Given the description of an element on the screen output the (x, y) to click on. 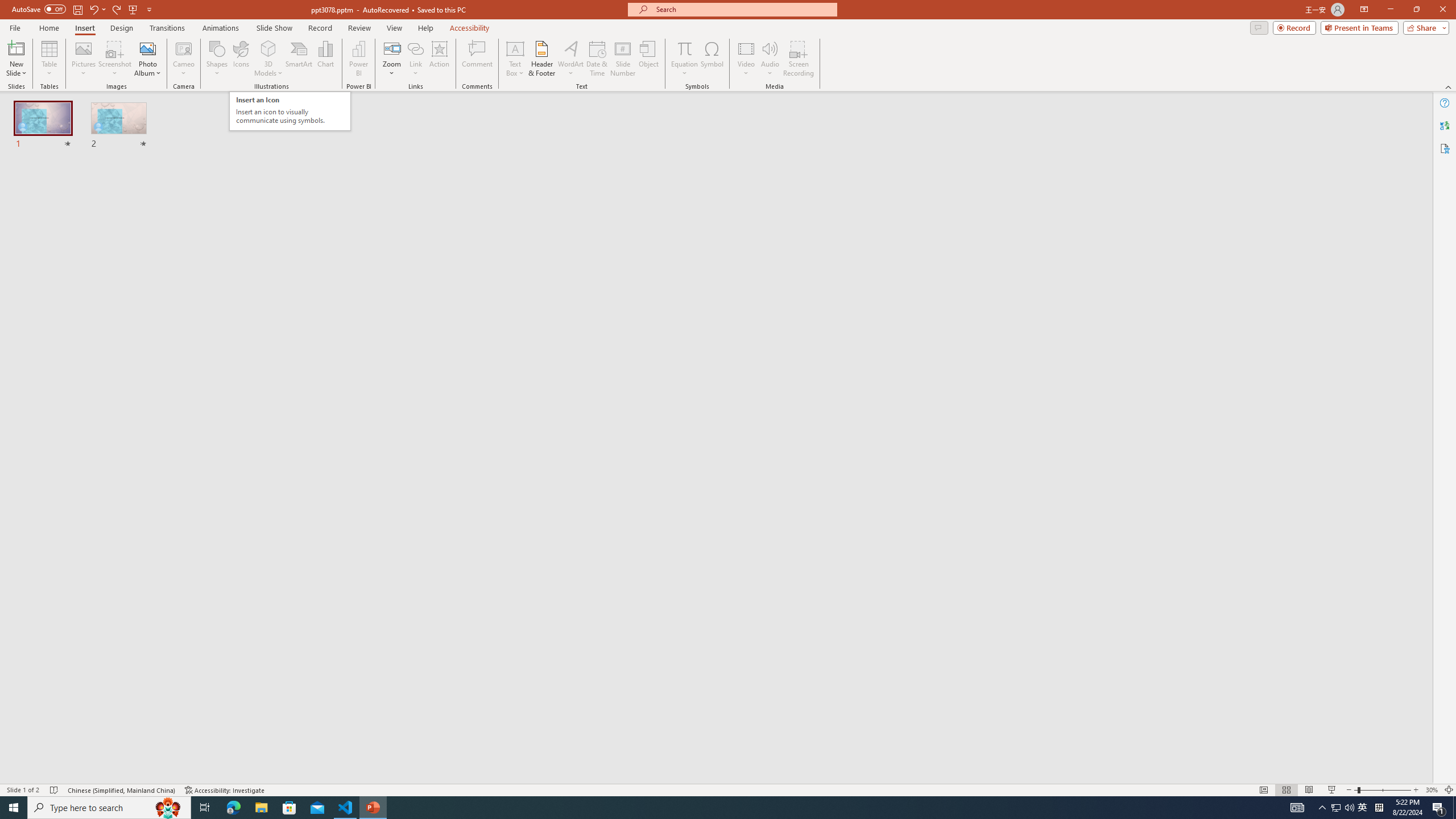
Draw Horizontal Text Box (515, 48)
Pictures (83, 58)
Equation (683, 48)
